Given the description of an element on the screen output the (x, y) to click on. 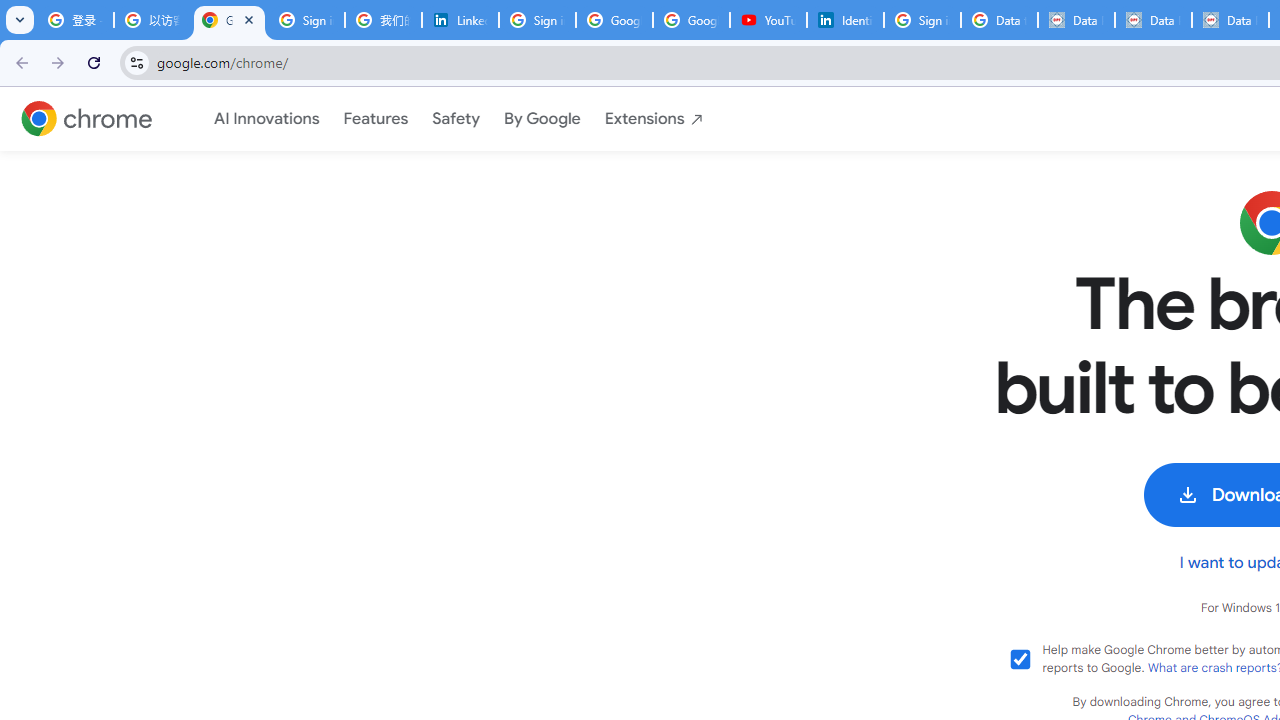
LinkedIn Privacy Policy (460, 20)
Data Privacy Framework (1229, 20)
ai innovations (266, 119)
extensions (653, 119)
Navigation drawer (459, 119)
safety (455, 119)
By Google (541, 118)
